Given the description of an element on the screen output the (x, y) to click on. 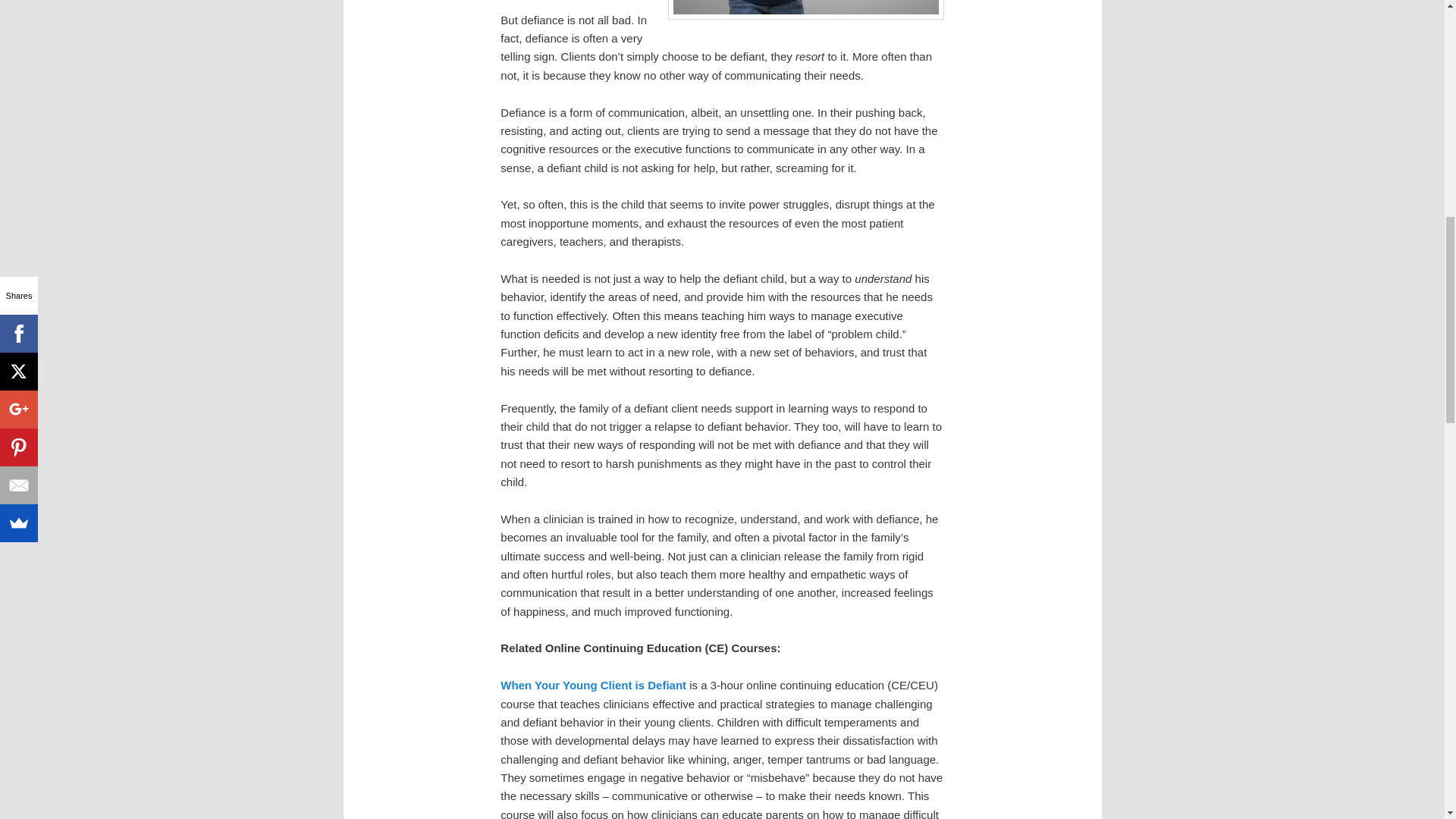
When Your Young Client is Defiant (592, 684)
